Given the description of an element on the screen output the (x, y) to click on. 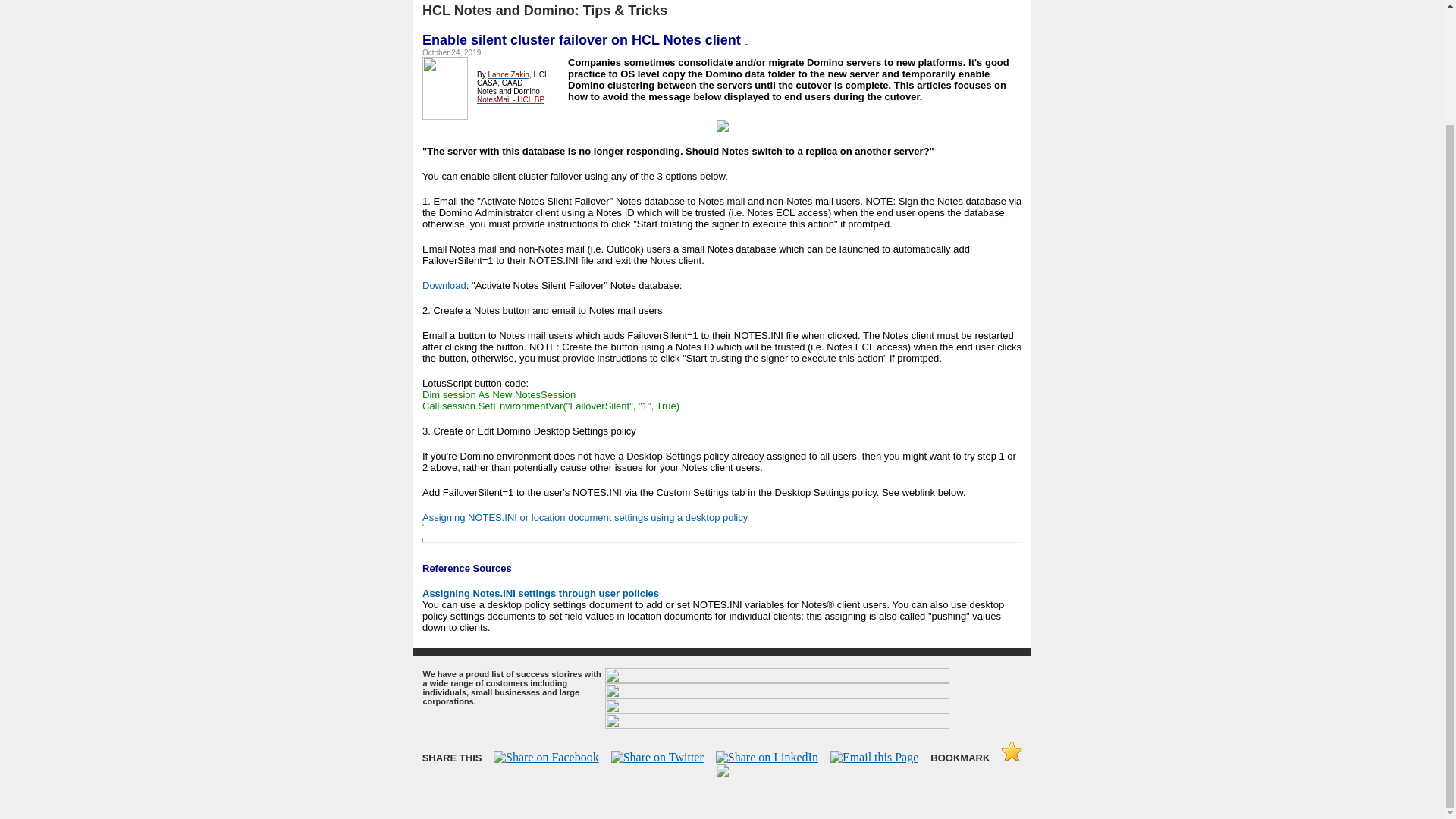
NotesMail - HCL BP (510, 97)
Lance Zakin (507, 72)
Assigning Notes.INI settings through user policies (540, 592)
Download (443, 284)
